Given the description of an element on the screen output the (x, y) to click on. 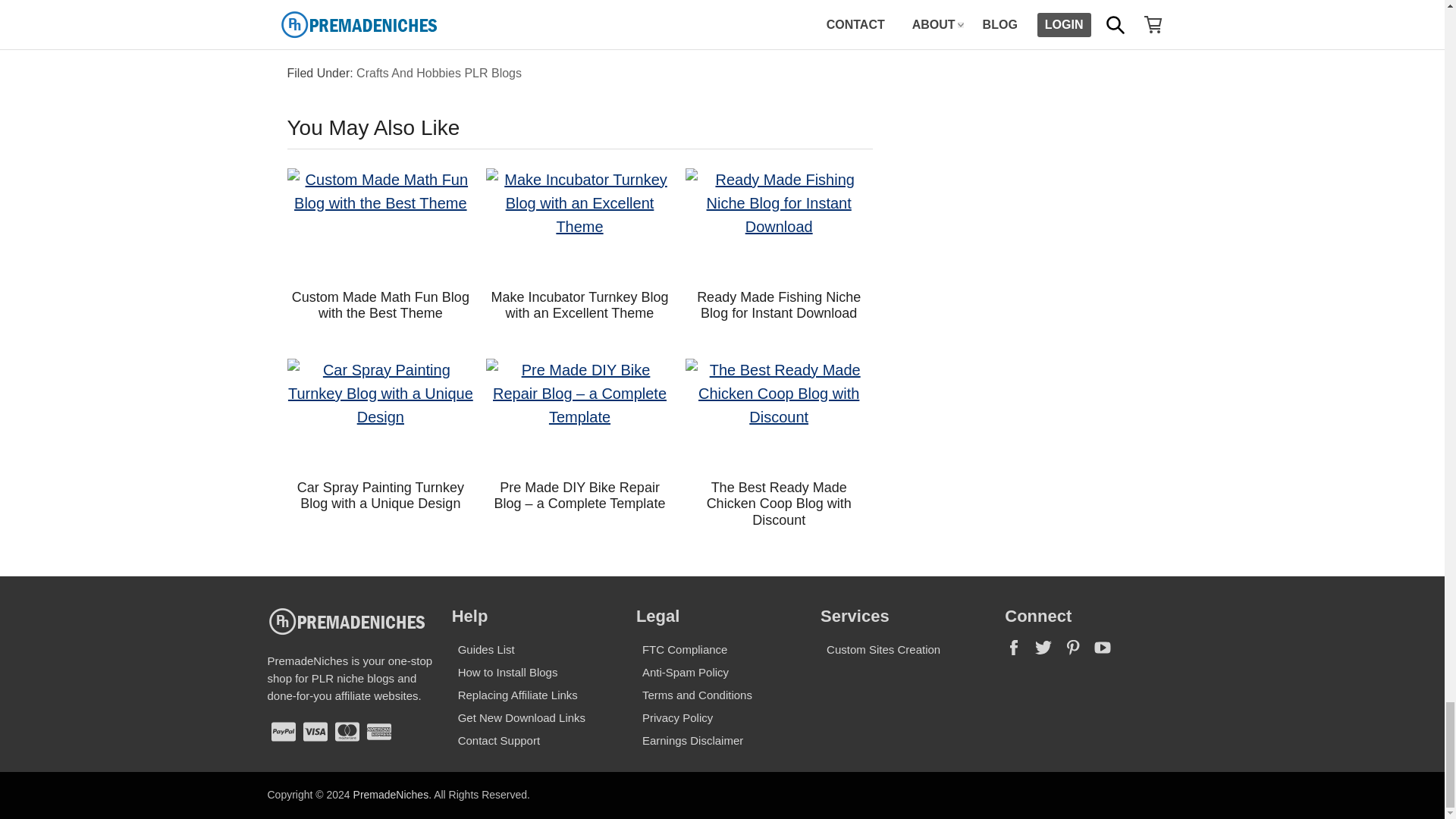
Car Spray Painting Turnkey Blog with a Unique Design (380, 414)
Custom Made Math Fun Blog with the Best Theme (380, 224)
Make Incubator Turnkey Blog with an Excellent Theme (579, 224)
Ready Made Fishing Niche Blog for Instant Download (778, 224)
The Best Ready Made Chicken Coop Blog with Discount (778, 414)
Add to Cart (580, 3)
